Given the description of an element on the screen output the (x, y) to click on. 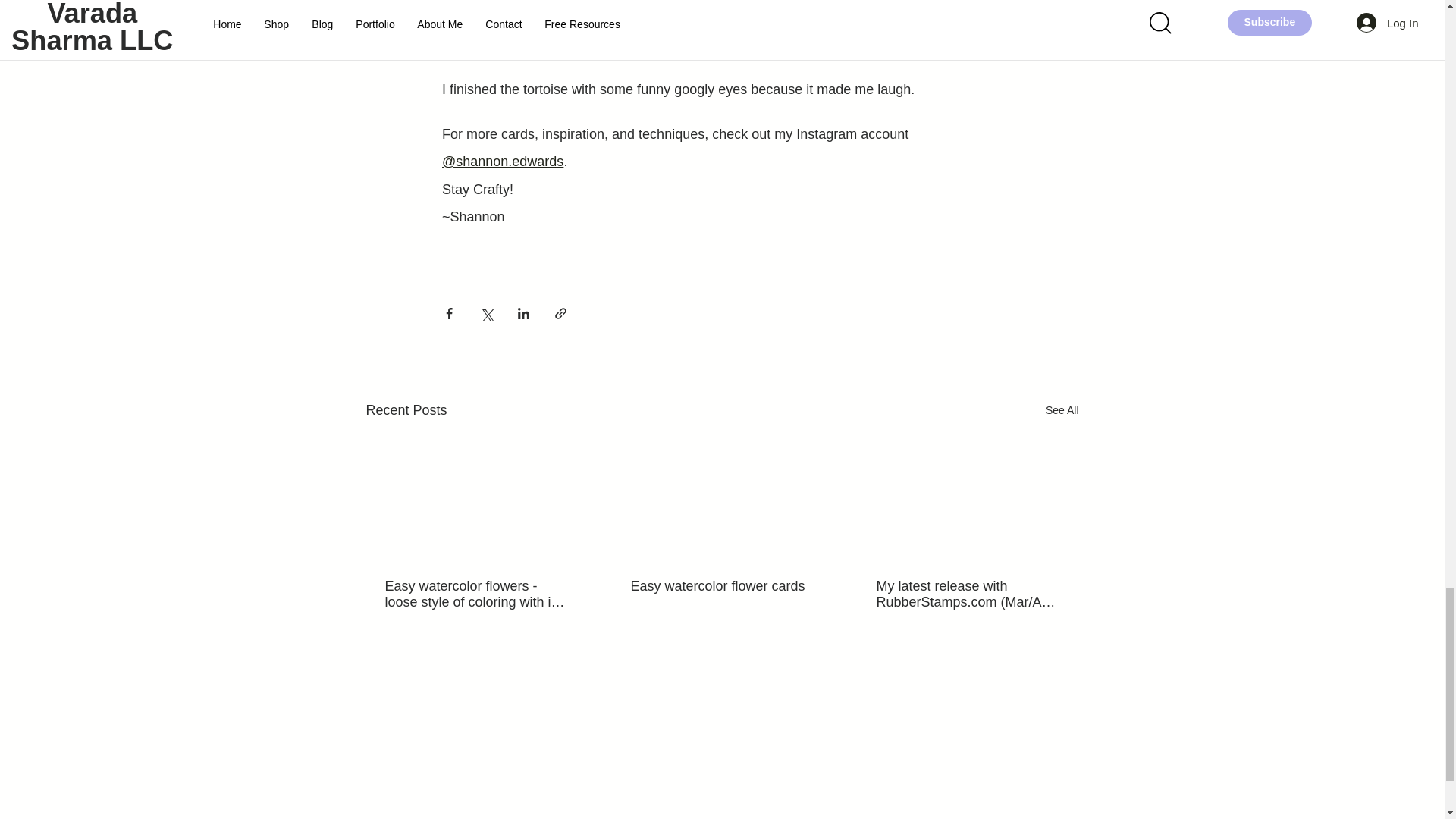
See All (1061, 410)
Easy watercolor flower cards (721, 586)
